Given the description of an element on the screen output the (x, y) to click on. 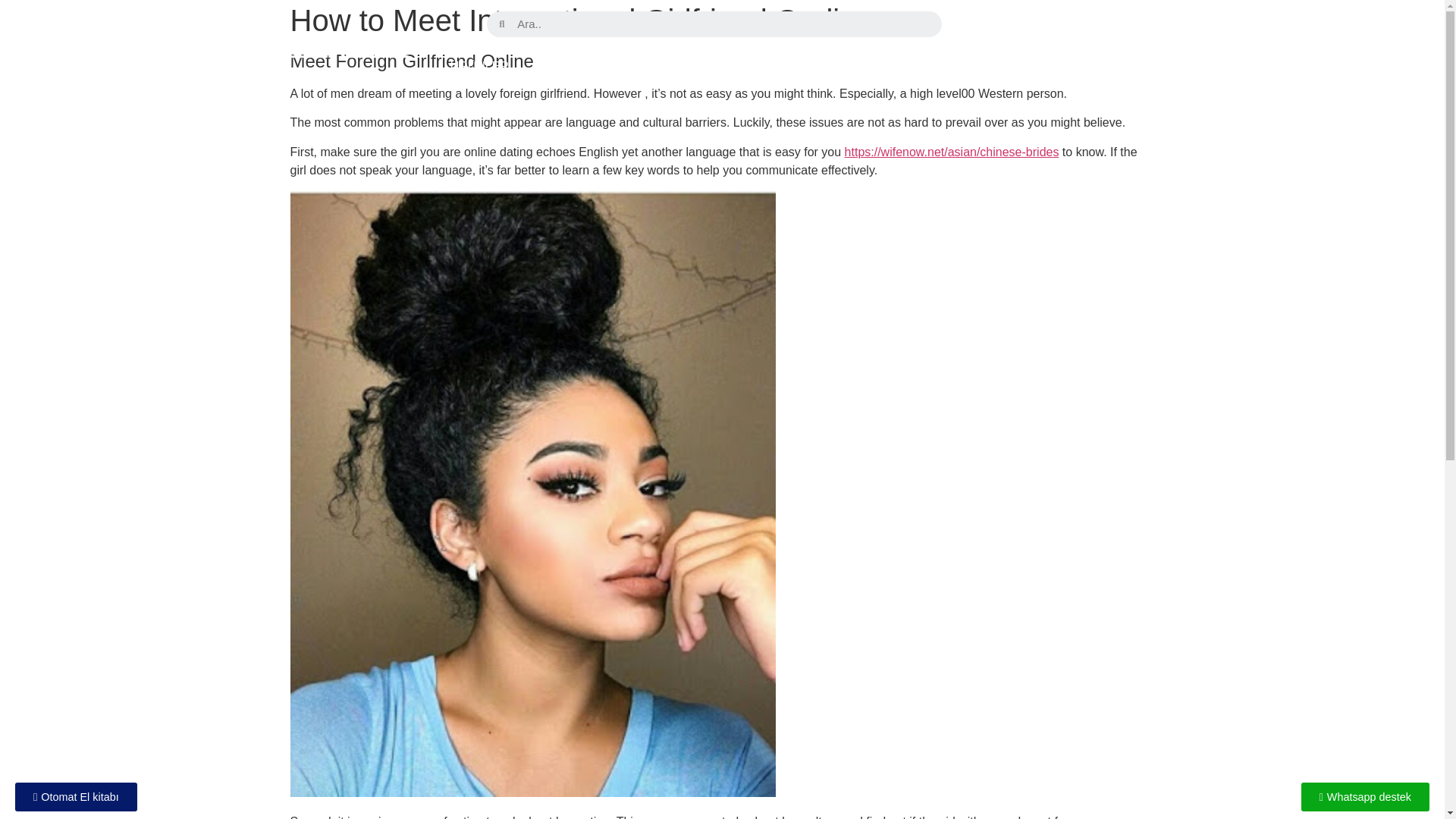
Search (723, 23)
